Given the description of an element on the screen output the (x, y) to click on. 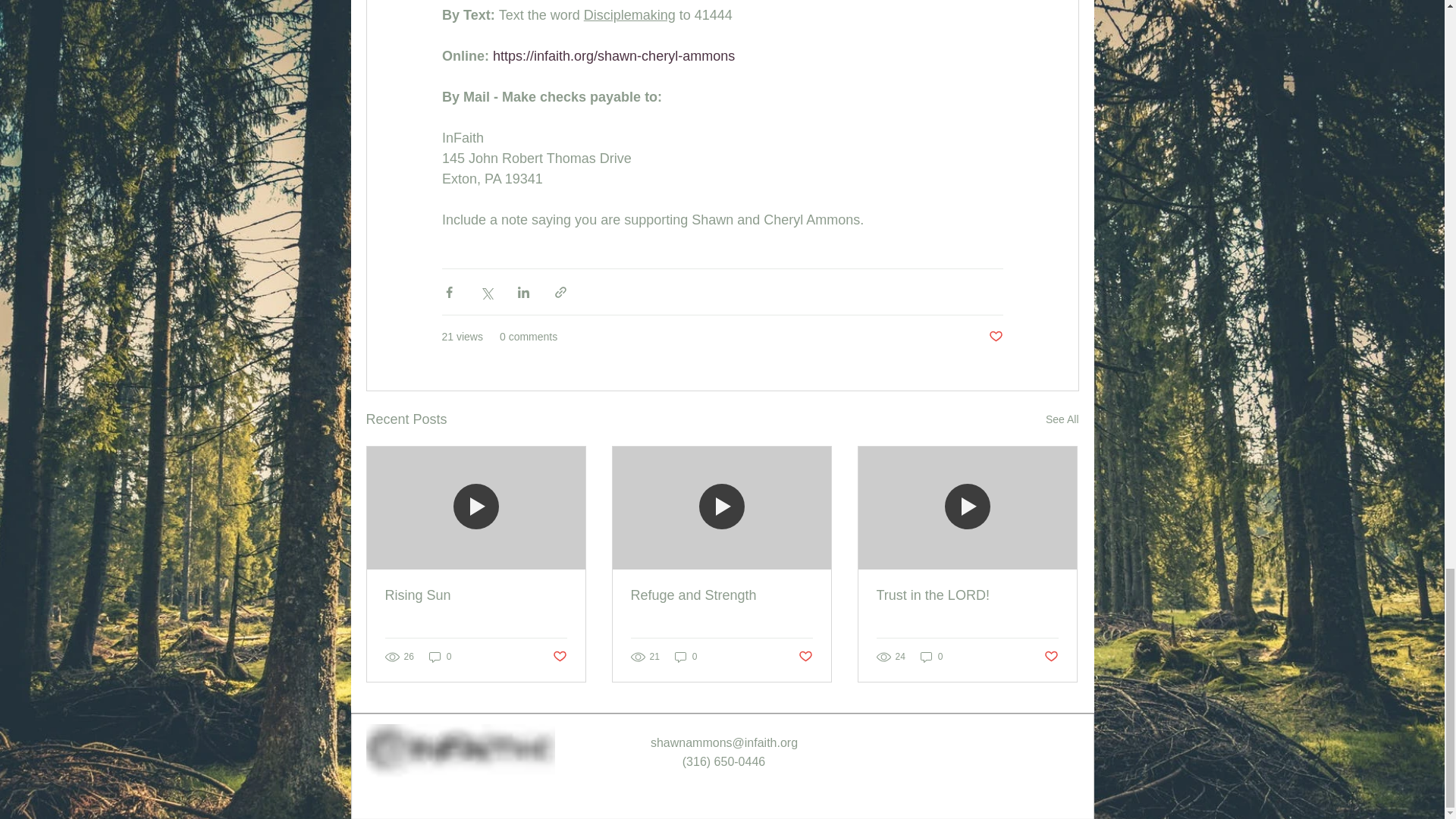
Post not marked as liked (558, 656)
0 (685, 657)
Rising Sun (476, 595)
Post not marked as liked (804, 656)
Post not marked as liked (995, 336)
Trust in the LORD! (967, 595)
0 (931, 657)
See All (1061, 419)
0 (440, 657)
Refuge and Strength (721, 595)
Post not marked as liked (1050, 656)
